Given the description of an element on the screen output the (x, y) to click on. 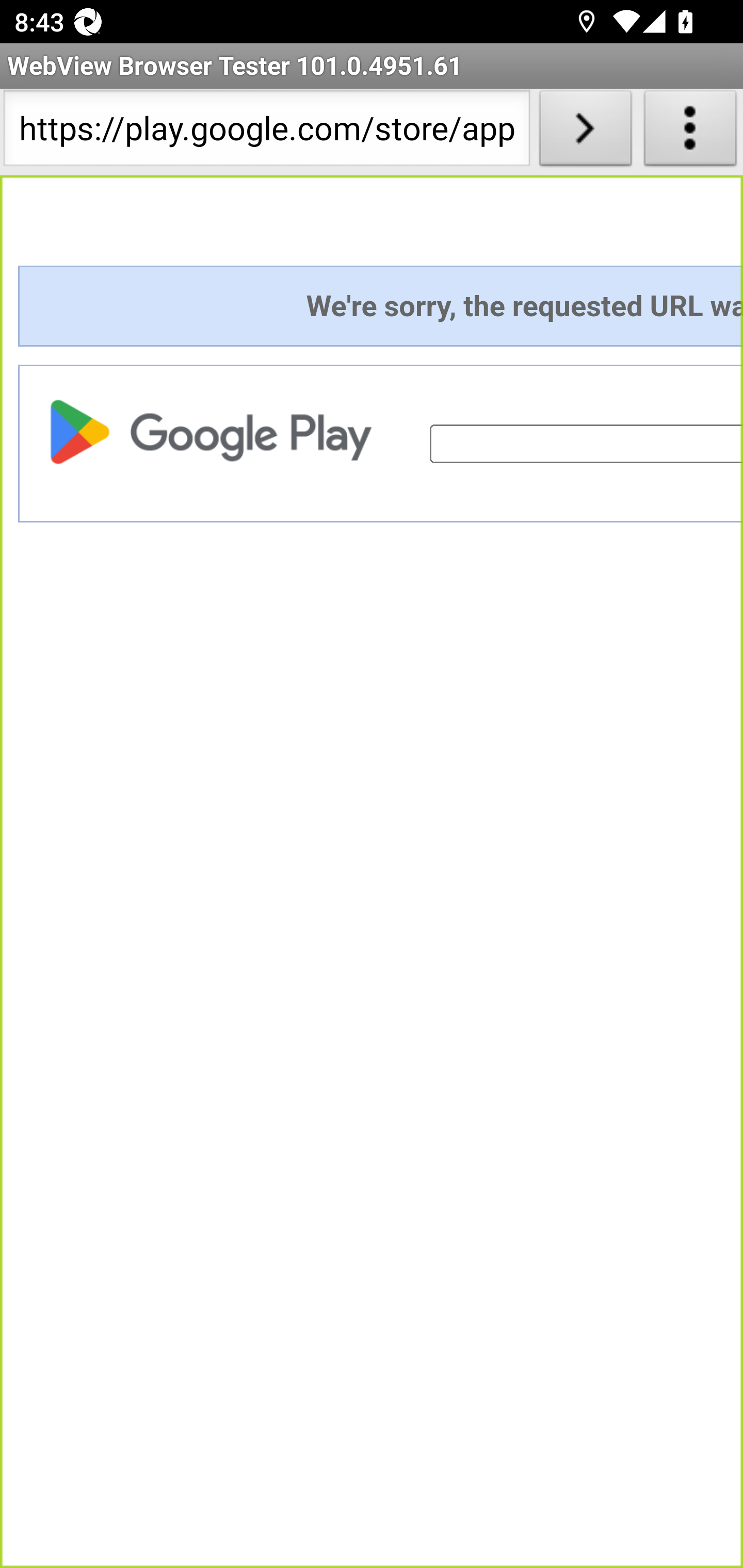
Load URL (585, 132)
About WebView (690, 132)
Google Play (216, 431)
